Given the description of an element on the screen output the (x, y) to click on. 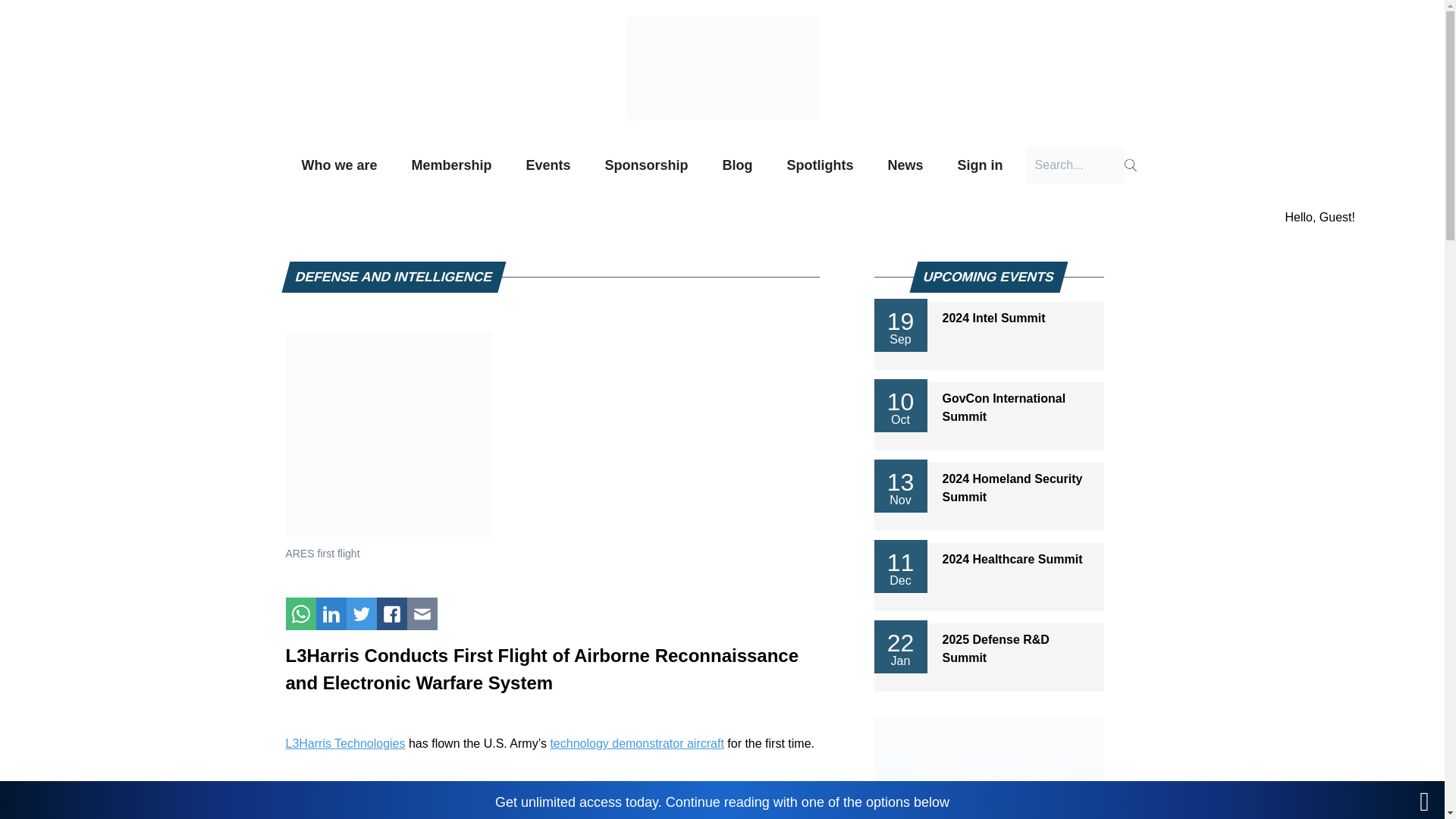
Sponsorship (647, 164)
News (905, 164)
Sign in (980, 164)
Events (546, 164)
L3Harris Technologies (344, 743)
Who we are (338, 164)
Membership (450, 164)
technology demonstrator aircraft (636, 743)
Blog (737, 164)
Spotlights (820, 164)
